Given the description of an element on the screen output the (x, y) to click on. 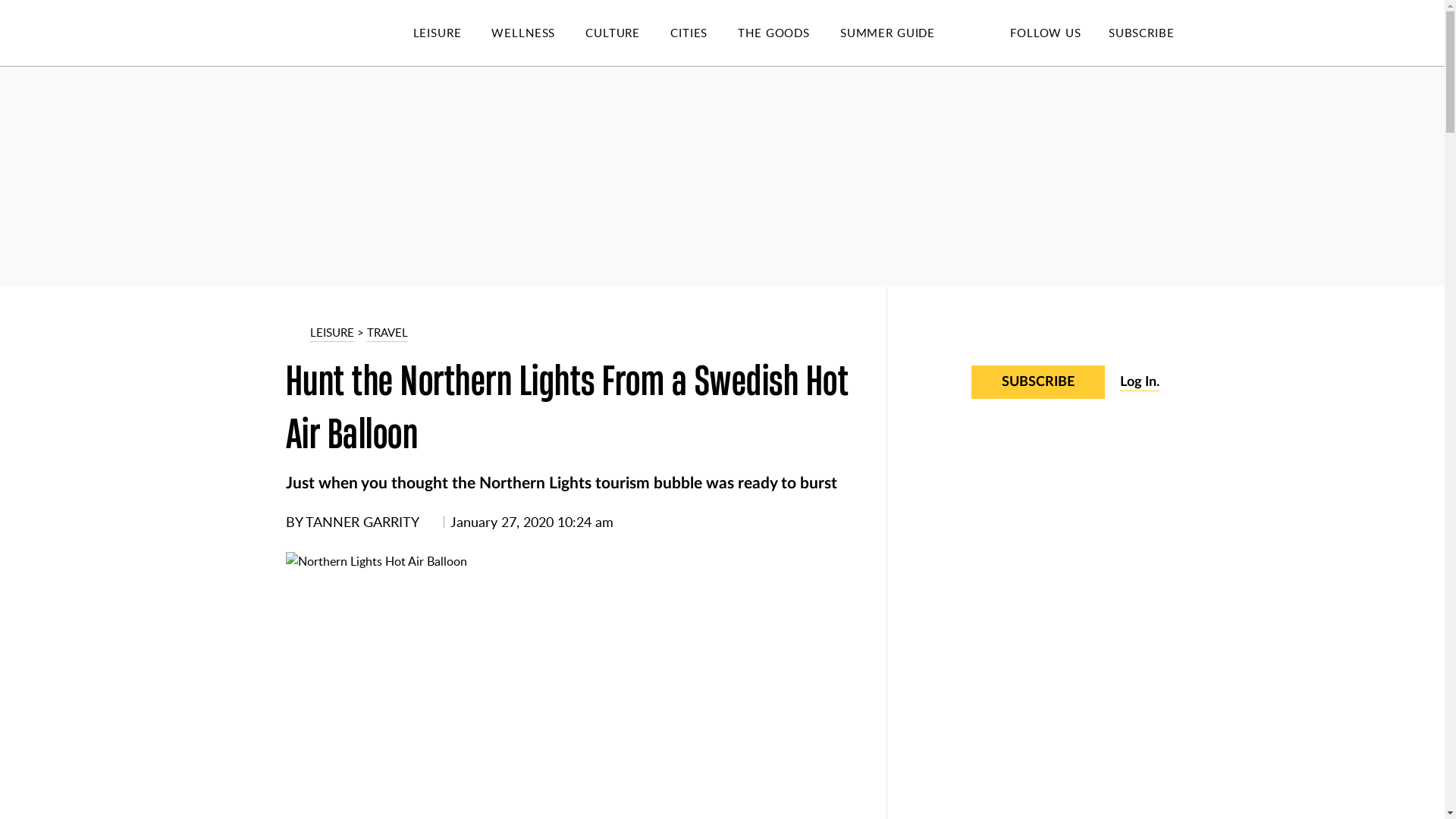
LEISURE (452, 32)
CITIES (703, 32)
SUBSCRIBE (1141, 31)
FOLLOW US (1045, 32)
WELLNESS (538, 32)
THE GOODS (789, 32)
CULTURE (627, 32)
SUMMER GUIDE (902, 32)
